Given the description of an element on the screen output the (x, y) to click on. 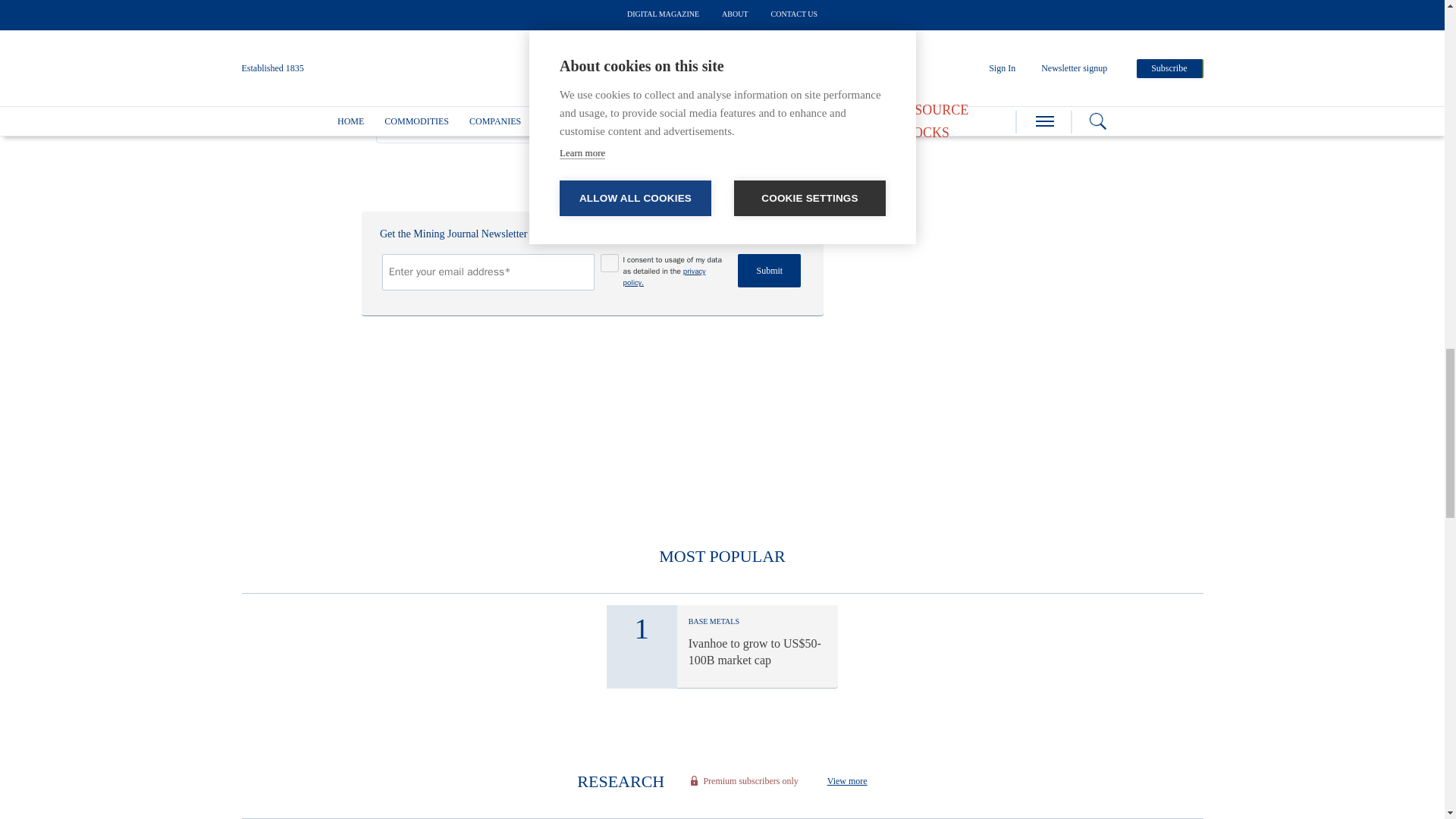
Submit (769, 270)
true (608, 262)
